Given the description of an element on the screen output the (x, y) to click on. 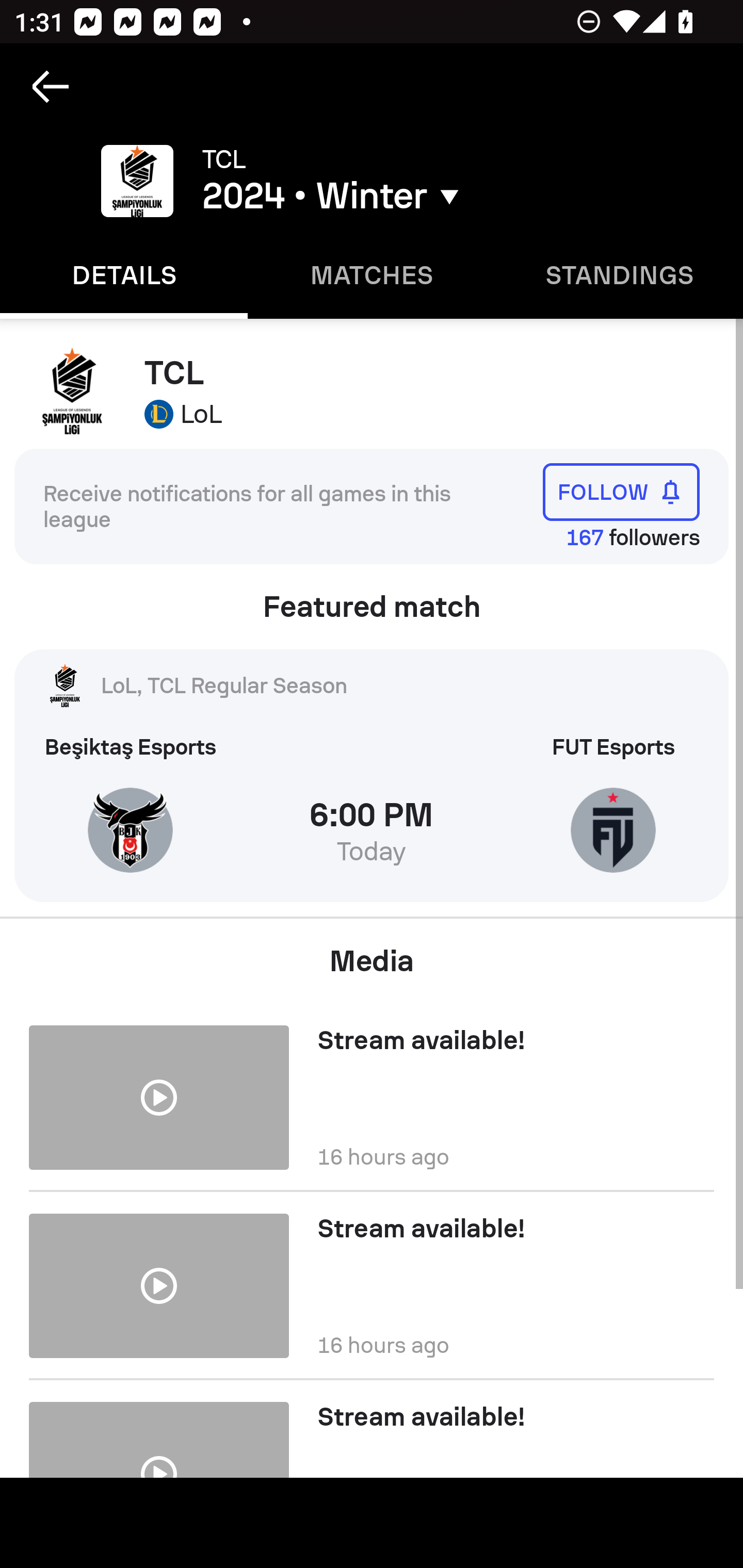
Navigate up (50, 86)
TCL 2024 • Winter (407, 181)
Matches MATCHES (371, 275)
Standings STANDINGS (619, 275)
FOLLOW (621, 491)
picture Stream available! picture 16 hours ago (371, 1090)
picture Stream available! picture 16 hours ago (371, 1285)
picture Stream available! picture (371, 1428)
